Given the description of an element on the screen output the (x, y) to click on. 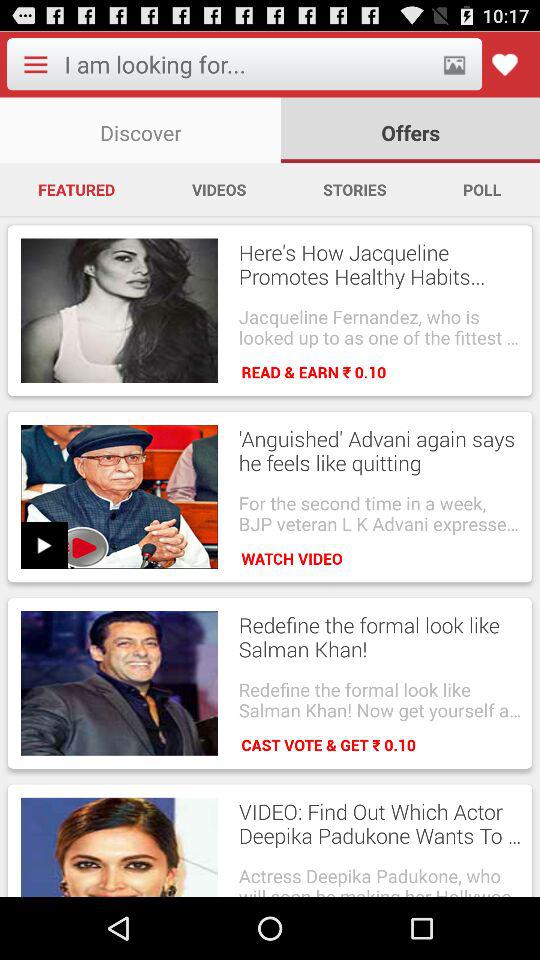
click the poll icon (482, 189)
